Given the description of an element on the screen output the (x, y) to click on. 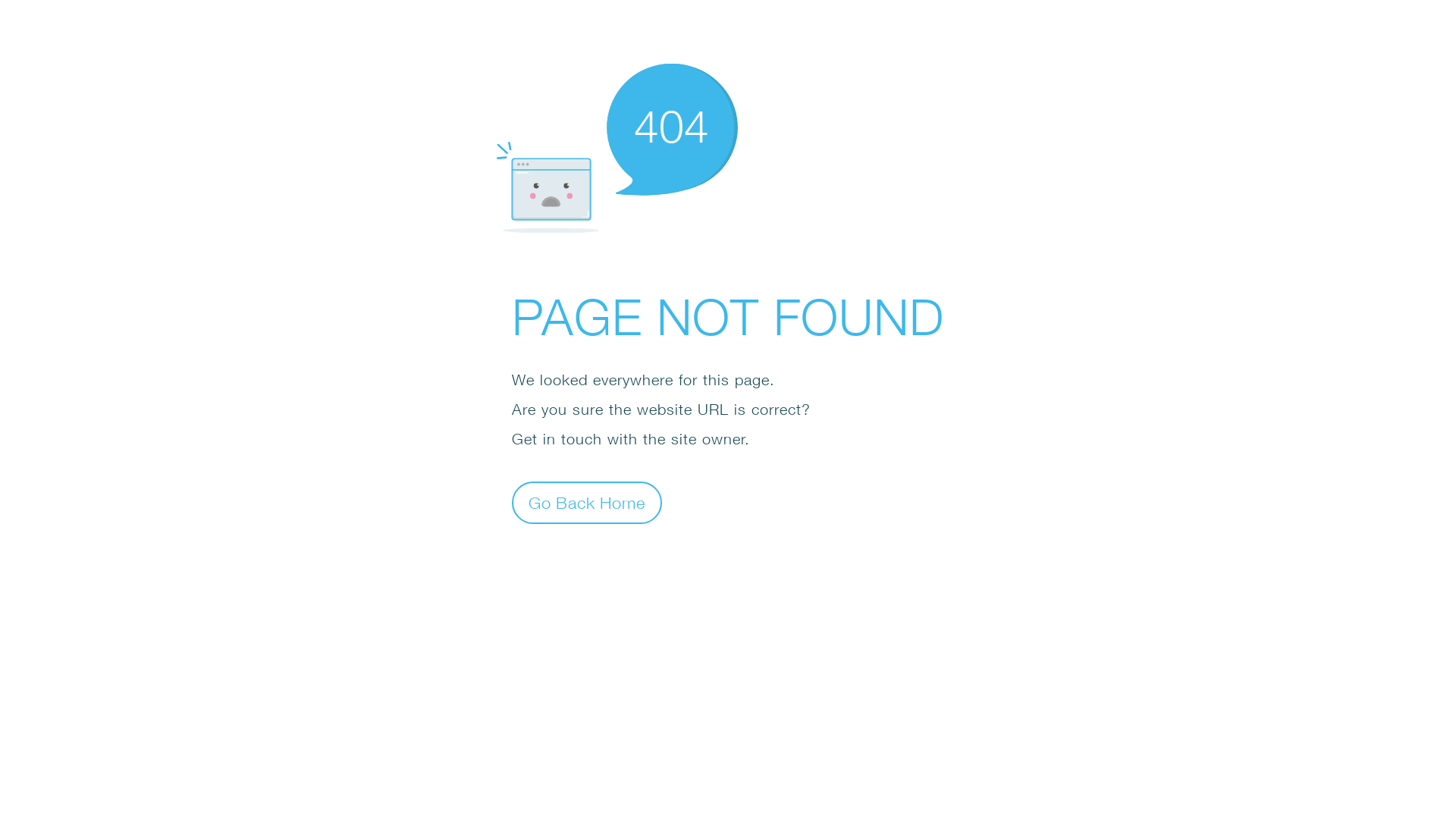
Go Back Home Element type: text (586, 502)
